Given the description of an element on the screen output the (x, y) to click on. 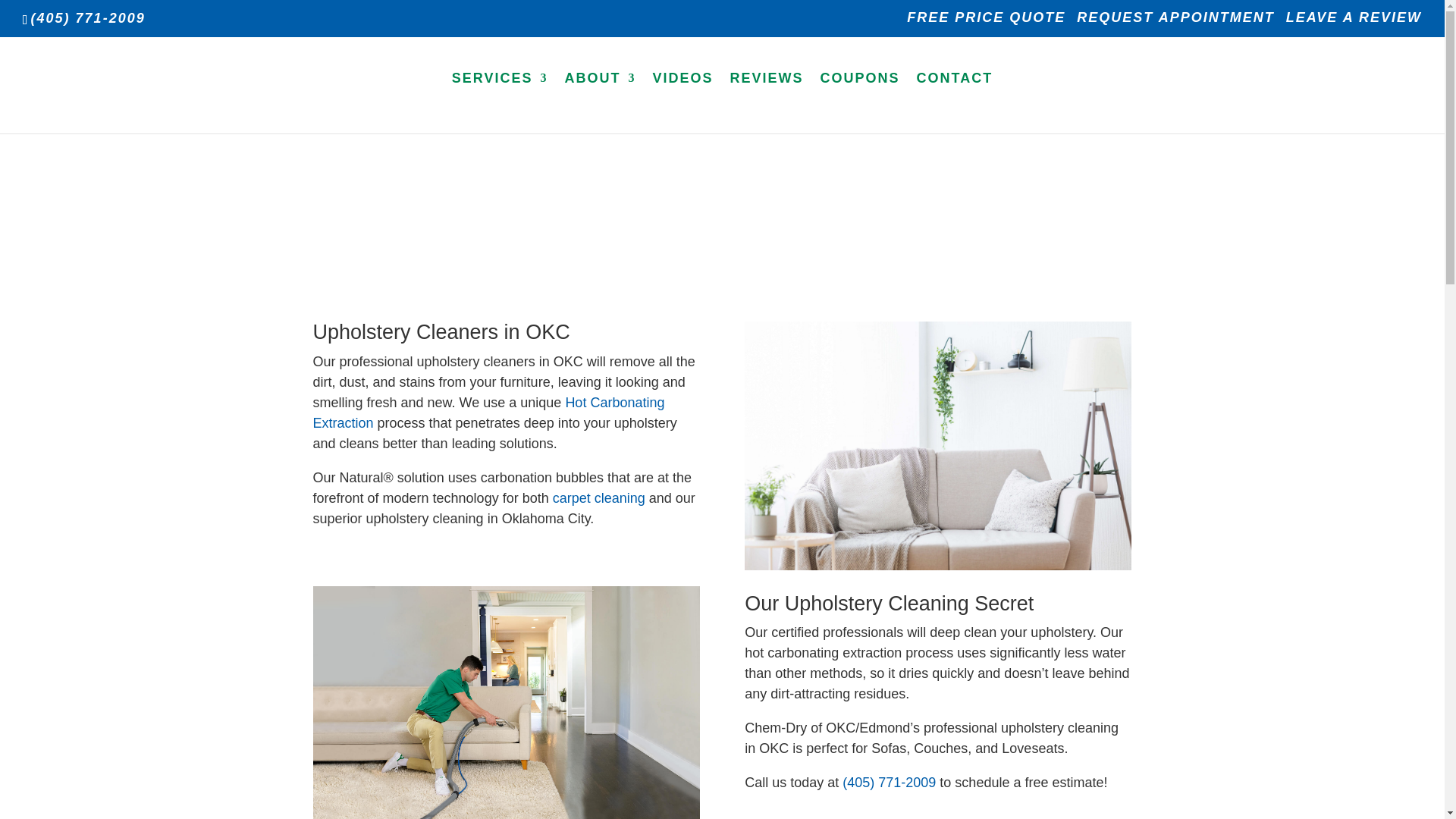
SERVICES (499, 102)
CONTACT (954, 102)
REVIEWS (766, 102)
ABOUT (599, 102)
Carpet Cleaning Coupons (860, 102)
Hot Carbonating Extraction (488, 412)
COUPONS (860, 102)
Contact Us (954, 102)
Customer Reviews (766, 102)
VIDEOS (682, 102)
